Given the description of an element on the screen output the (x, y) to click on. 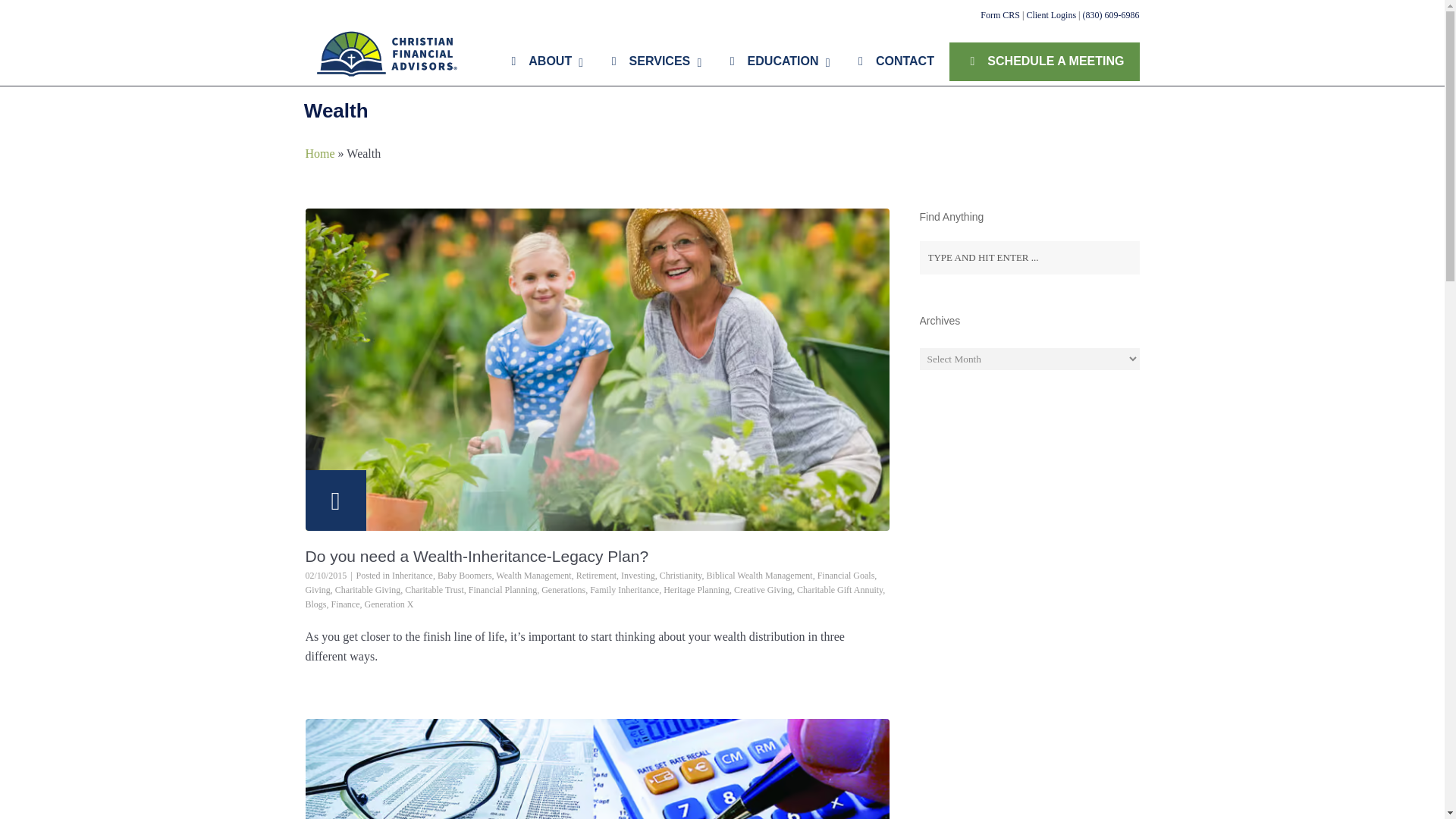
ABOUT (540, 61)
TYPE AND HIT ENTER ... (1028, 257)
TYPE AND HIT ENTER ... (1028, 257)
Client Logins (1050, 14)
Permalink to Do you need a Wealth-Inheritance-Legacy Plan? (475, 556)
Form CRS (999, 14)
